Given the description of an element on the screen output the (x, y) to click on. 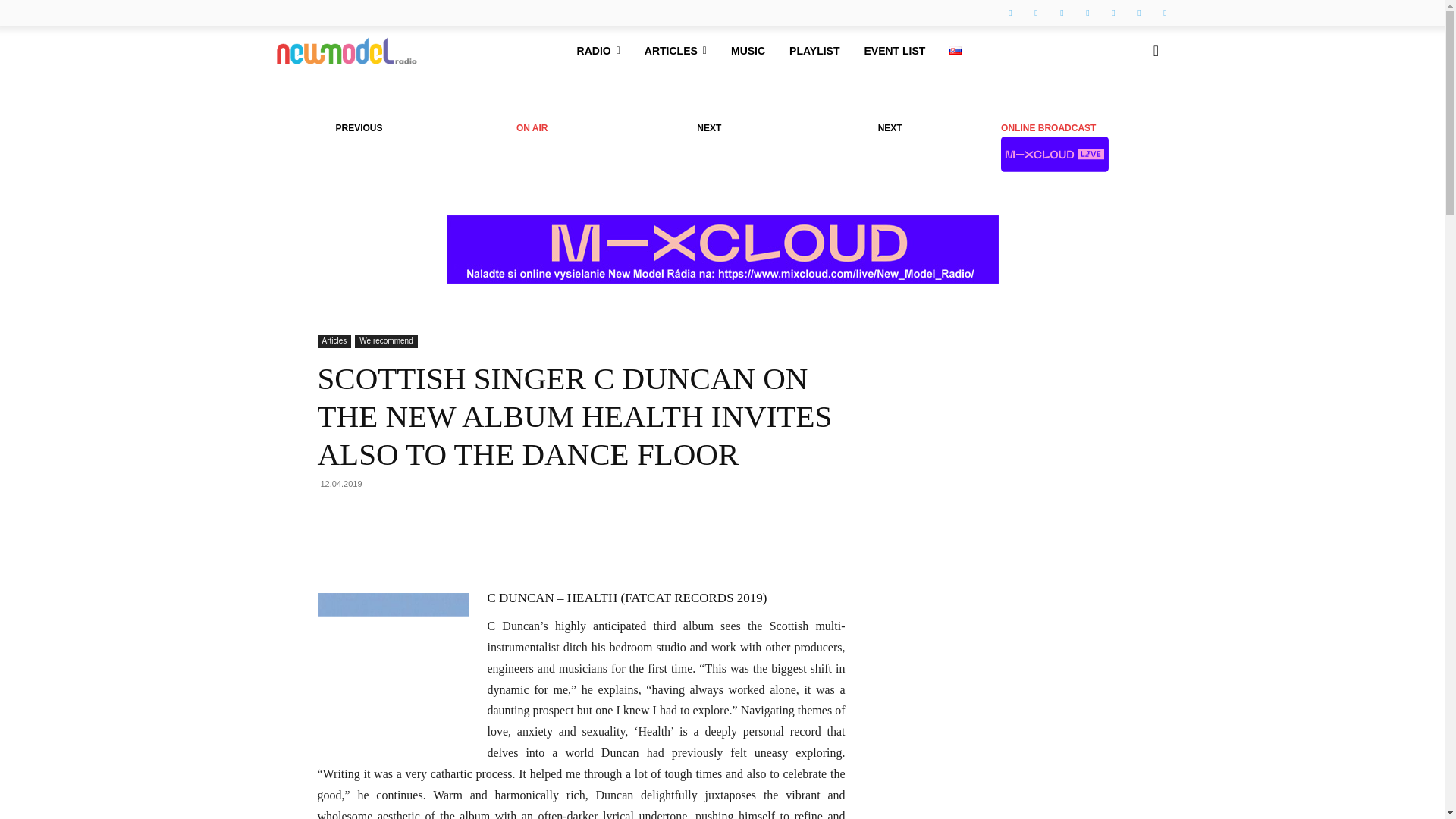
Mixcloud (1164, 13)
Patreon (1087, 13)
Spotify (1112, 13)
RADIO (597, 50)
Facebook (1010, 13)
Mail (1061, 13)
Twitter (1138, 13)
Instagram (1035, 13)
Digital broadcasting and music magazine (345, 50)
